Given the description of an element on the screen output the (x, y) to click on. 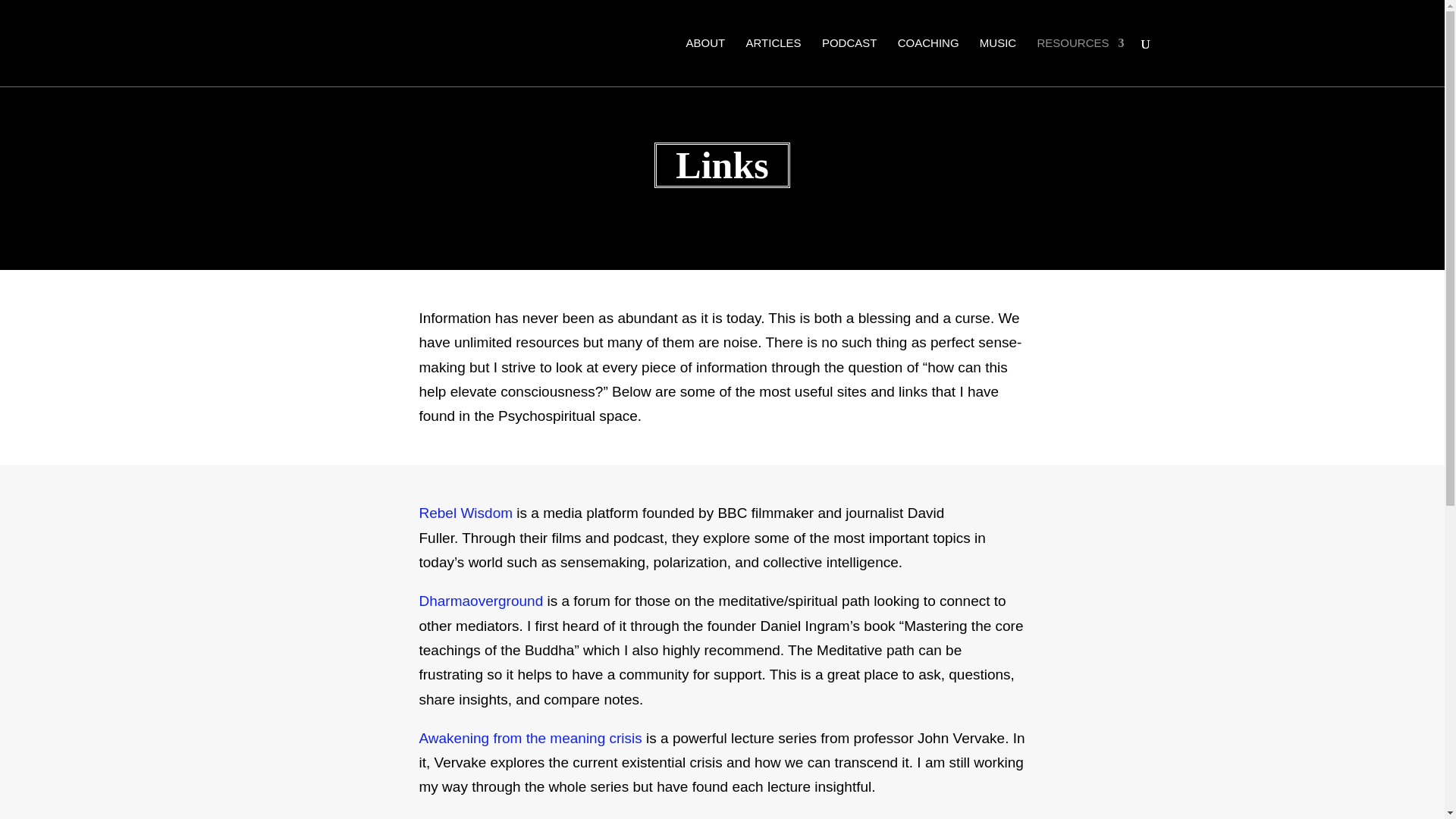
ARTICLES (773, 59)
PODCAST (849, 59)
COACHING (928, 59)
Dharmaoverground (481, 600)
RESOURCES (1080, 59)
Awakening from the meaning crisis (530, 738)
Rebel Wisdom (467, 512)
